Given the description of an element on the screen output the (x, y) to click on. 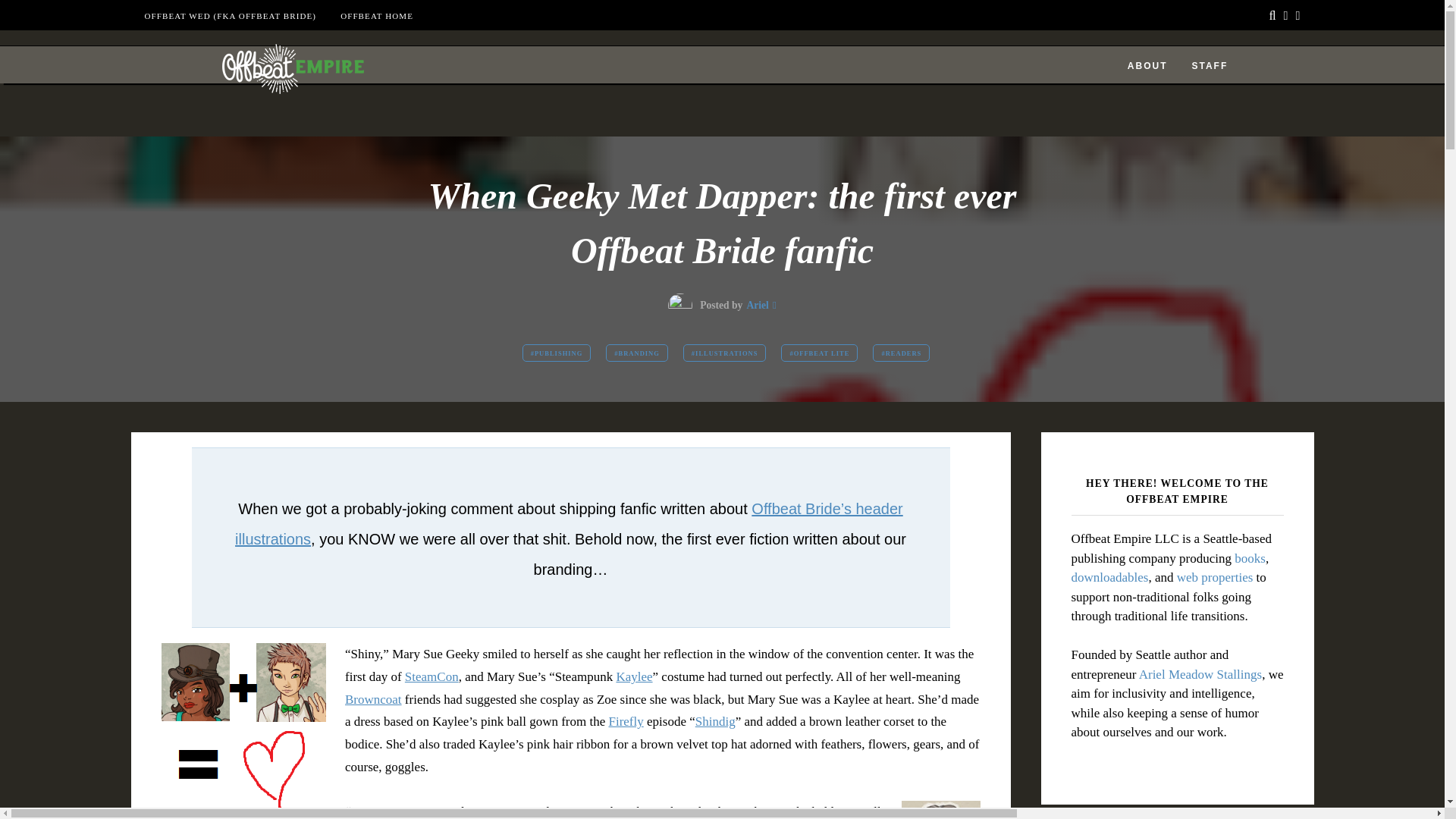
Firefly (625, 721)
Kaylee (633, 676)
SteamCon (431, 676)
Offbeat Empire (256, 122)
STAFF (1209, 65)
Shindig (715, 721)
Ariel (756, 305)
Posts by Ariel (756, 305)
OFFBEAT HOME (376, 15)
ABOUT (1146, 65)
Browncoat (373, 699)
